Given the description of an element on the screen output the (x, y) to click on. 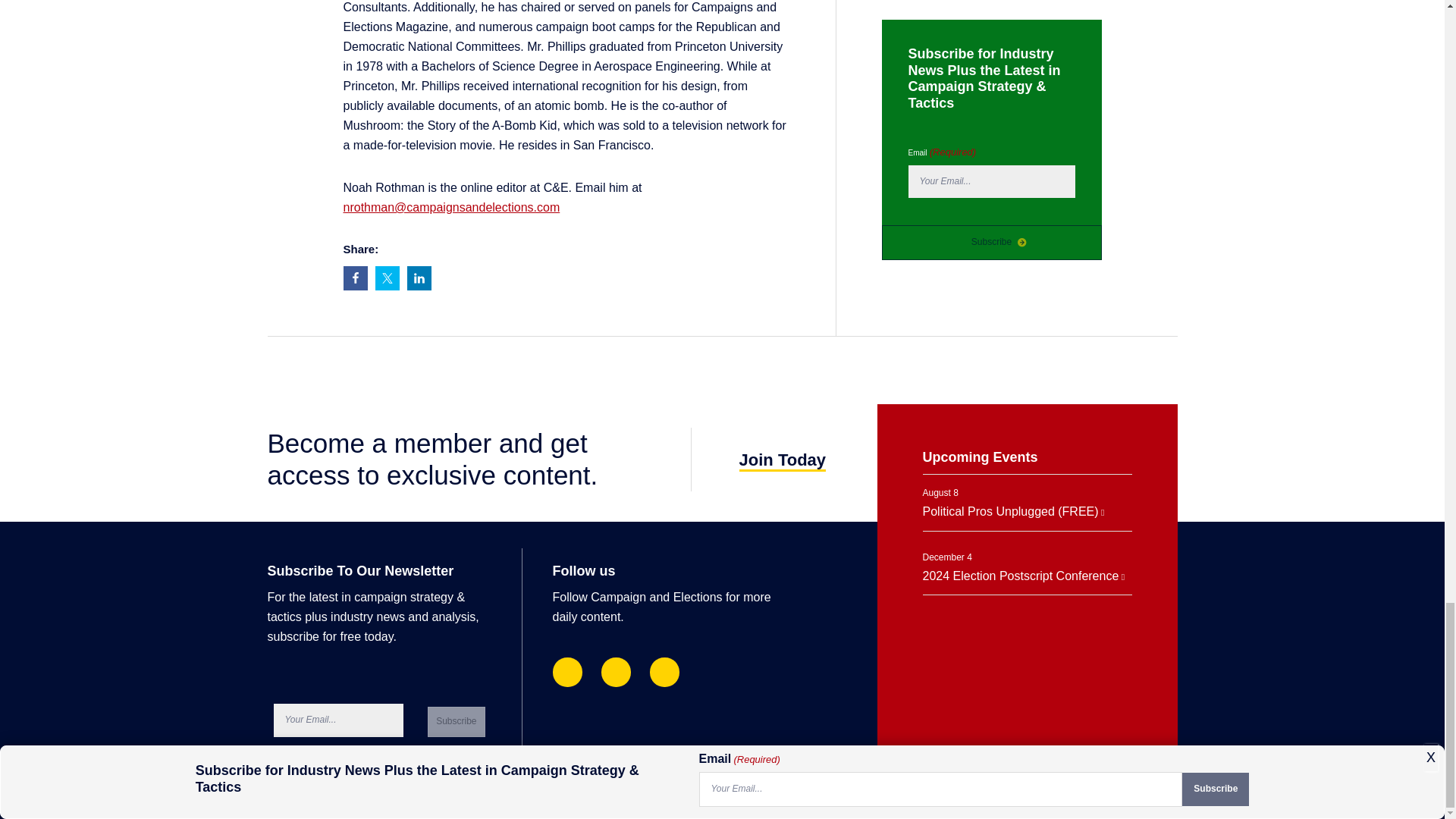
Share on LinkedIn (418, 278)
Facebook (566, 672)
Subscribe (456, 721)
Share on Facebook (354, 278)
Twitter (663, 672)
LinkedIn (615, 672)
Share on Twitter (386, 278)
